Given the description of an element on the screen output the (x, y) to click on. 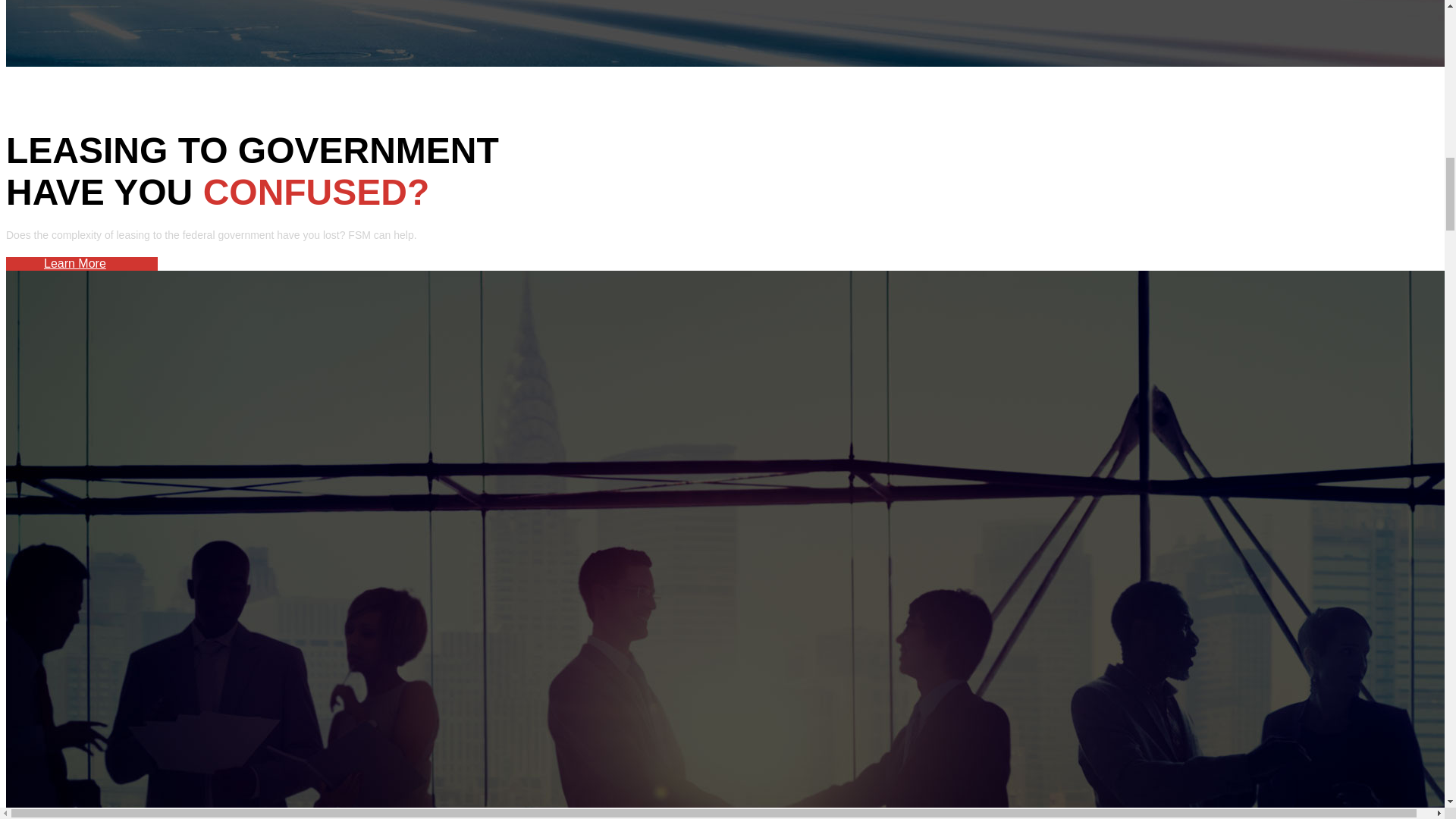
Learn More (74, 263)
